Given the description of an element on the screen output the (x, y) to click on. 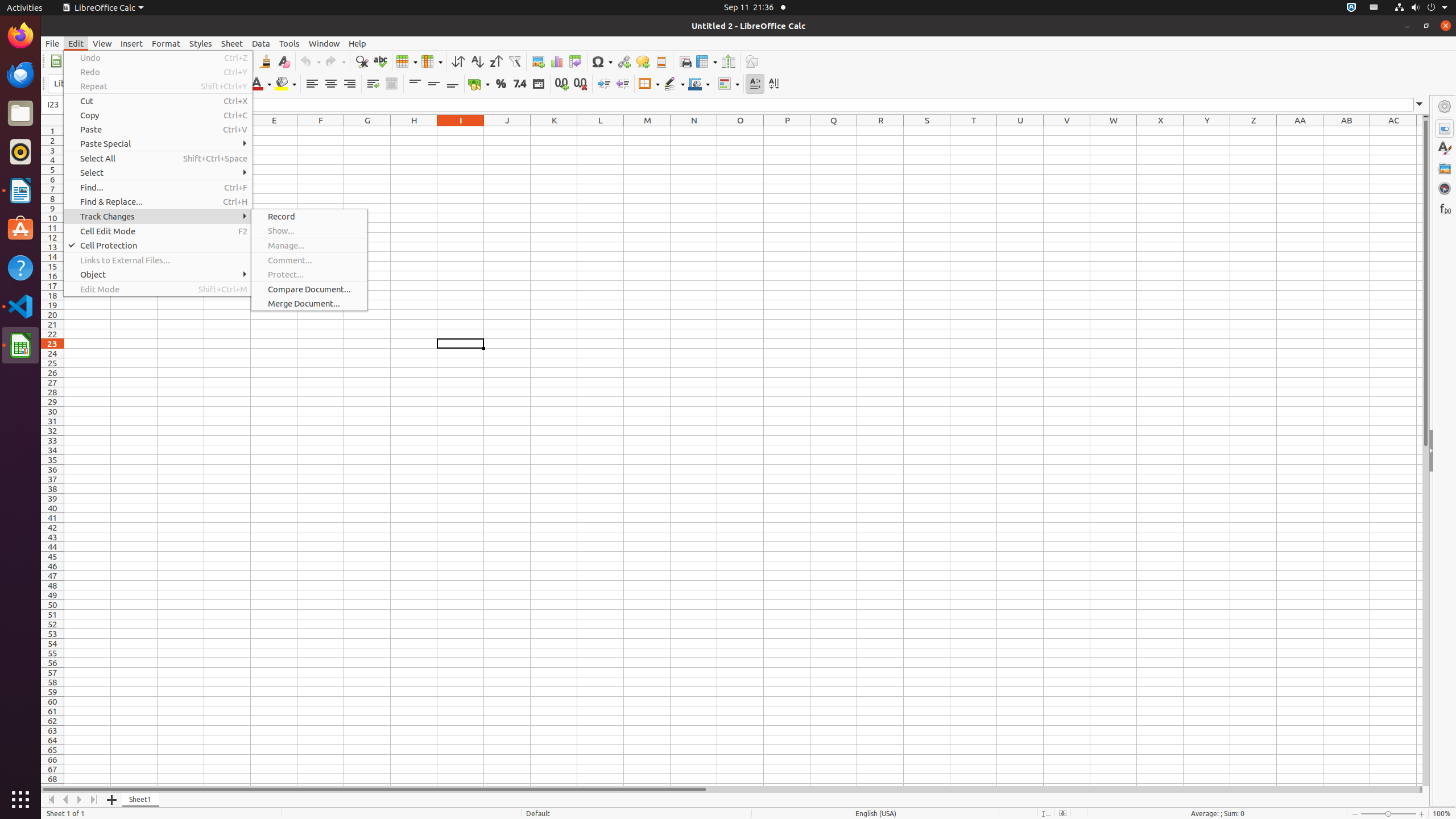
Align Center Element type: push-button (330, 83)
Format Element type: menu (165, 43)
AA1 Element type: table-cell (1299, 130)
Move To End Element type: push-button (94, 799)
